Given the description of an element on the screen output the (x, y) to click on. 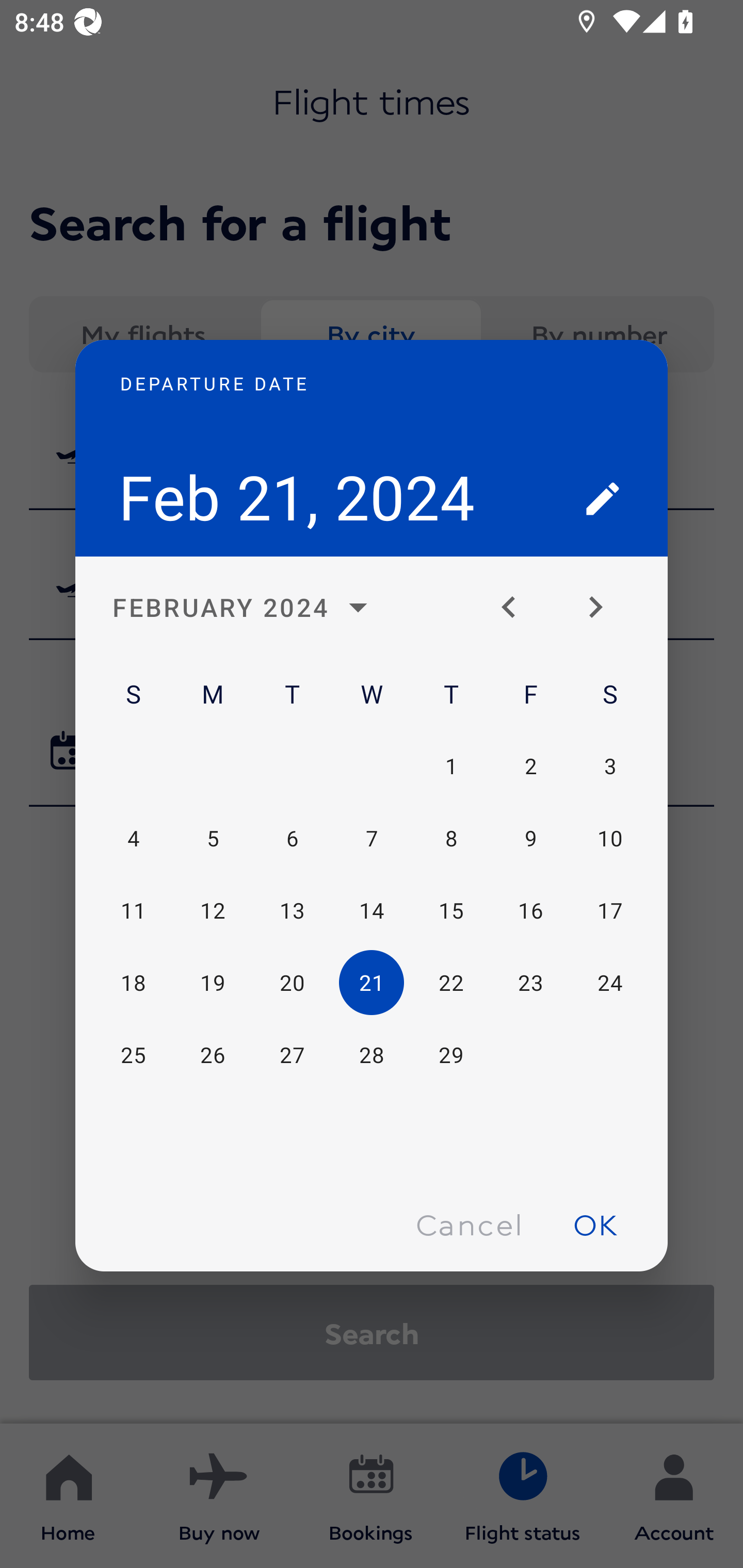
Switch to text input mode (602, 498)
FEBRUARY 2024 (245, 607)
Change to previous month (515, 607)
Change to next month (602, 607)
1 Thu, Feb 1 (450, 765)
2 Fri, Feb 2 (530, 765)
3 Sat, Feb 3 (609, 765)
4 Sun, Feb 4 (133, 838)
5 Mon, Feb 5 (212, 838)
6 Tue, Feb 6 (291, 838)
7 Wed, Feb 7 (371, 838)
8 Thu, Feb 8 (450, 838)
9 Fri, Feb 9 (530, 838)
10 Sat, Feb 10 (609, 838)
11 Sun, Feb 11 (133, 910)
12 Mon, Feb 12 (212, 910)
13 Tue, Feb 13 (291, 910)
14 Wed, Feb 14 (371, 910)
15 Thu, Feb 15 (450, 910)
16 Fri, Feb 16 (530, 910)
17 Sat, Feb 17 (609, 910)
18 Sun, Feb 18 (133, 983)
19 Mon, Feb 19 (212, 983)
20 Tue, Feb 20 (291, 983)
21 Today Wed, Feb 21 (371, 983)
22 Thu, Feb 22 (450, 983)
23 Fri, Feb 23 (530, 983)
24 Sat, Feb 24 (609, 983)
25 Sun, Feb 25 (133, 1055)
26 Mon, Feb 26 (212, 1055)
27 Tue, Feb 27 (291, 1055)
28 Wed, Feb 28 (371, 1055)
29 Thu, Feb 29 (450, 1055)
Cancel (468, 1224)
OK null, OK (595, 1224)
